Given the description of an element on the screen output the (x, y) to click on. 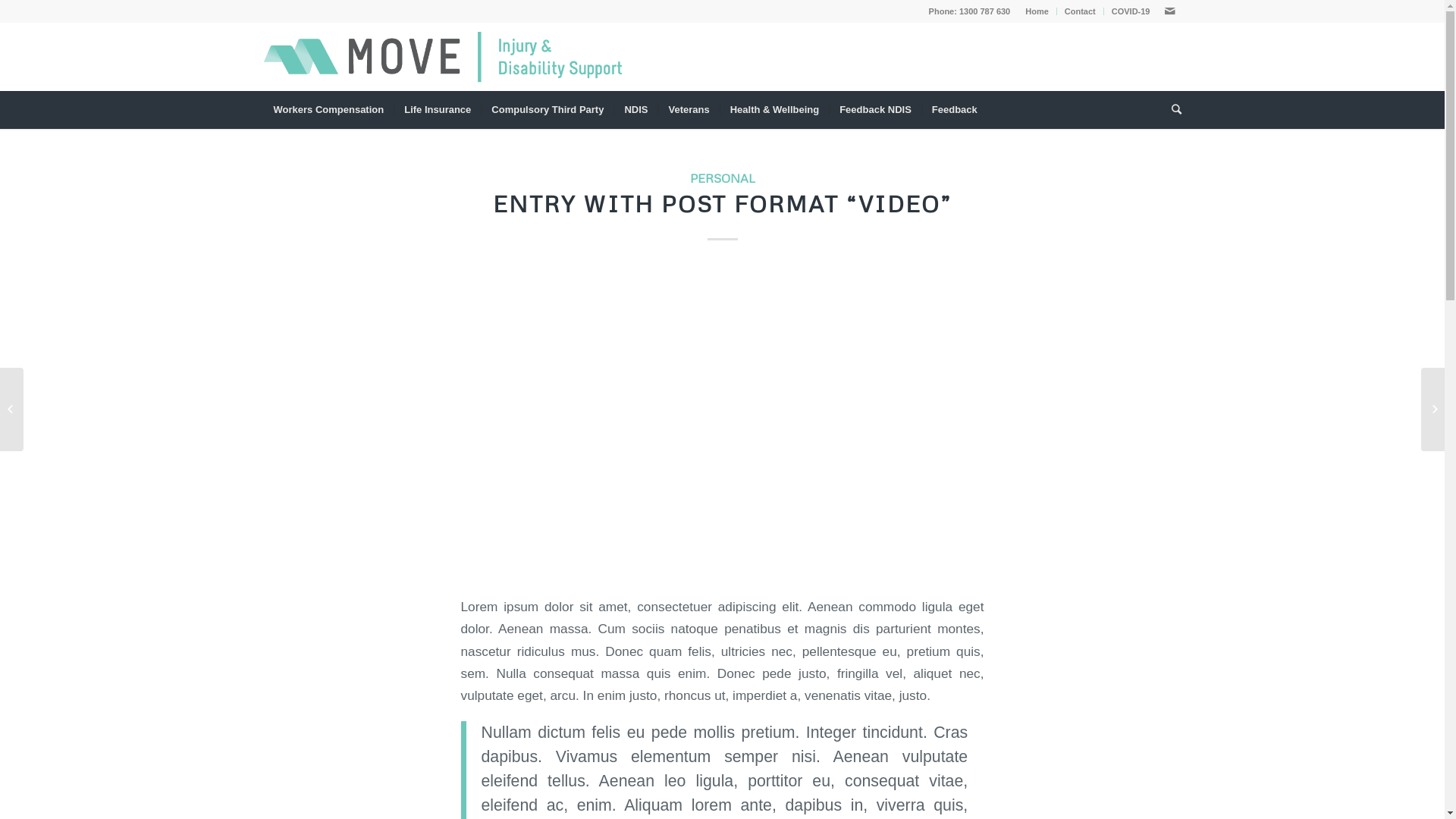
Mail Element type: hover (1169, 11)
NDIS Element type: text (635, 109)
Life Insurance Element type: text (436, 109)
Health & Wellbeing Element type: text (774, 109)
Compulsory Third Party Element type: text (546, 109)
COVID-19 Element type: text (1130, 11)
Home Element type: text (1036, 11)
Feedback NDIS Element type: text (874, 109)
Feedback Element type: text (954, 109)
Workers Compensation Element type: text (328, 109)
Veterans Element type: text (687, 109)
Contact Element type: text (1079, 11)
PERSONAL Element type: text (722, 177)
